Given the description of an element on the screen output the (x, y) to click on. 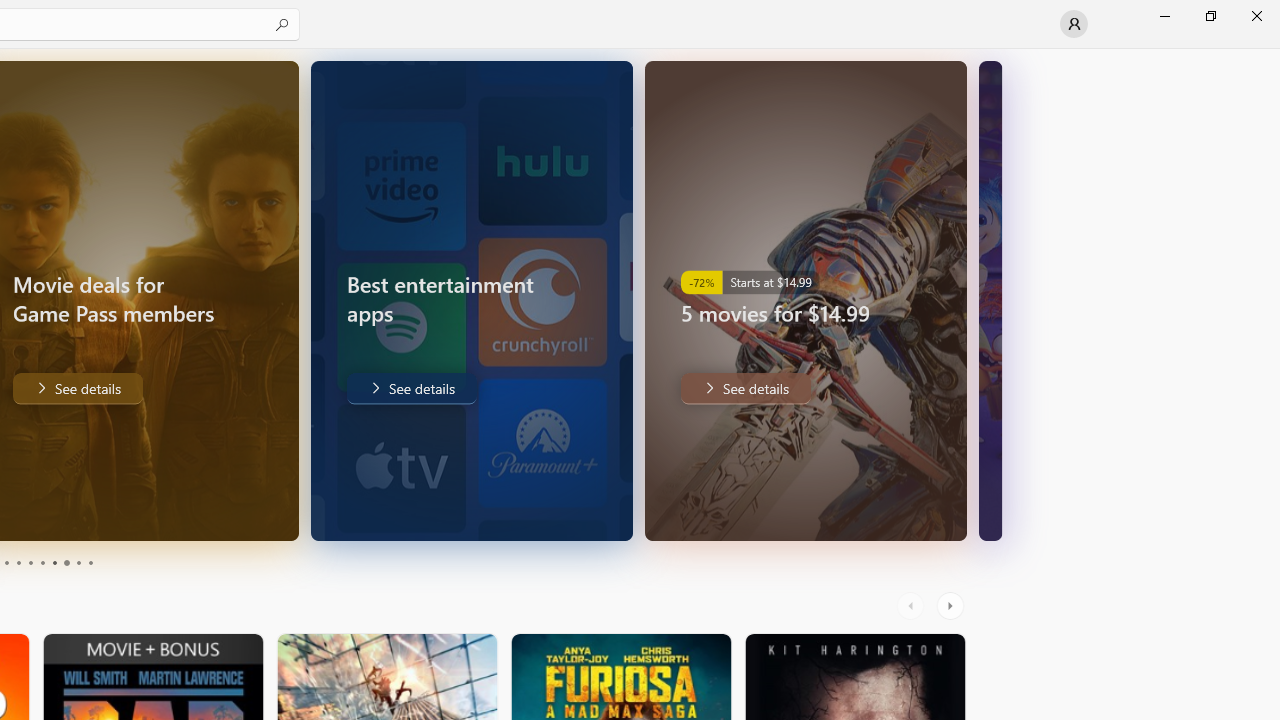
Restore Microsoft Store (1210, 15)
Minimize Microsoft Store (1164, 15)
Close Microsoft Store (1256, 15)
Page 6 (41, 562)
Page 4 (17, 562)
Page 10 (90, 562)
AutomationID: Image (989, 300)
Page 9 (77, 562)
Page 3 (5, 562)
Page 5 (29, 562)
AutomationID: RightScrollButton (952, 606)
Page 7 (54, 562)
